Given the description of an element on the screen output the (x, y) to click on. 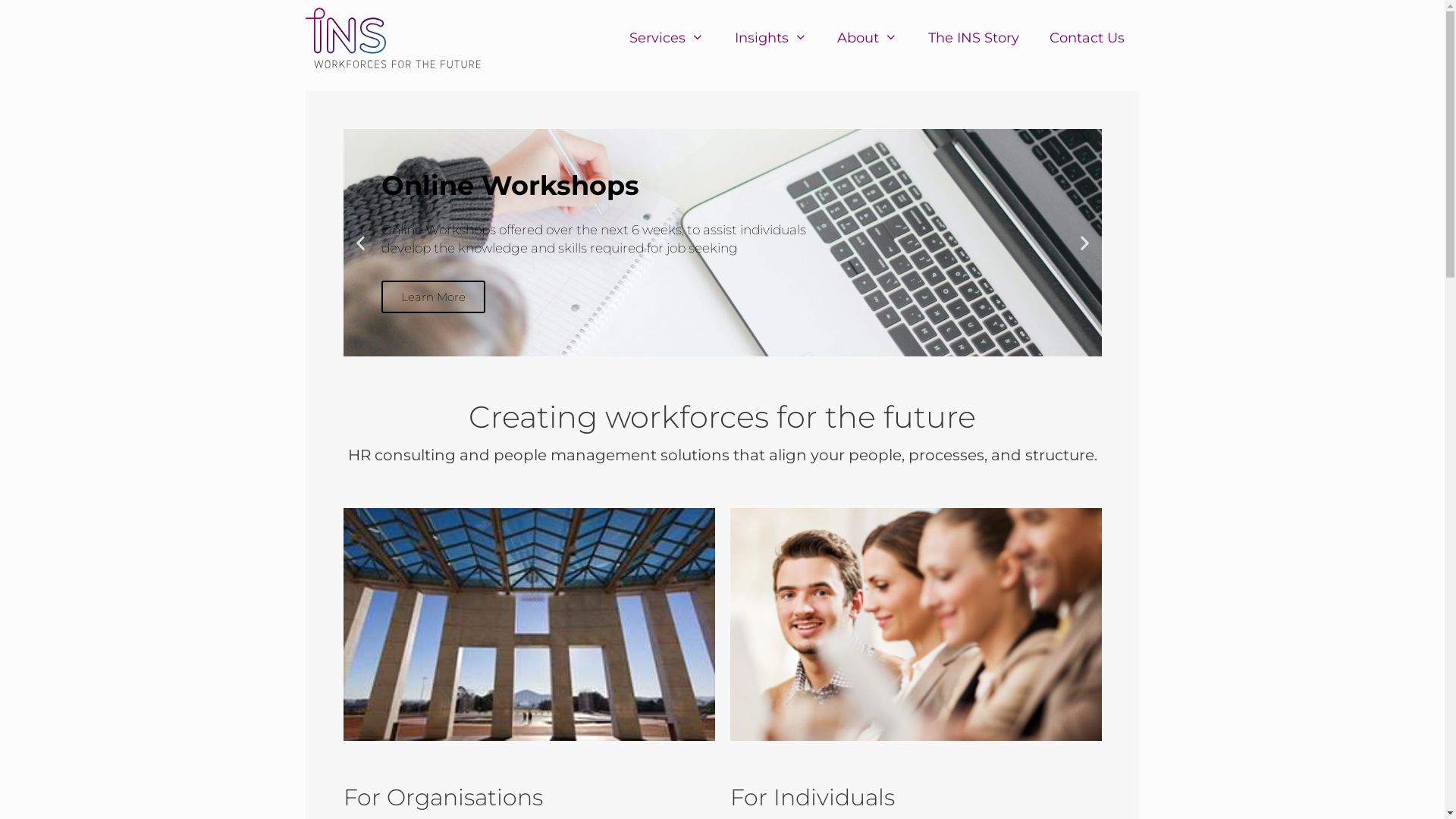
About Element type: text (867, 37)
INS Element type: hover (392, 37)
Insights Element type: text (770, 37)
Services Element type: text (666, 37)
INS Element type: hover (396, 37)
The INS Story Element type: text (973, 37)
Contact Us Element type: text (1086, 37)
